Given the description of an element on the screen output the (x, y) to click on. 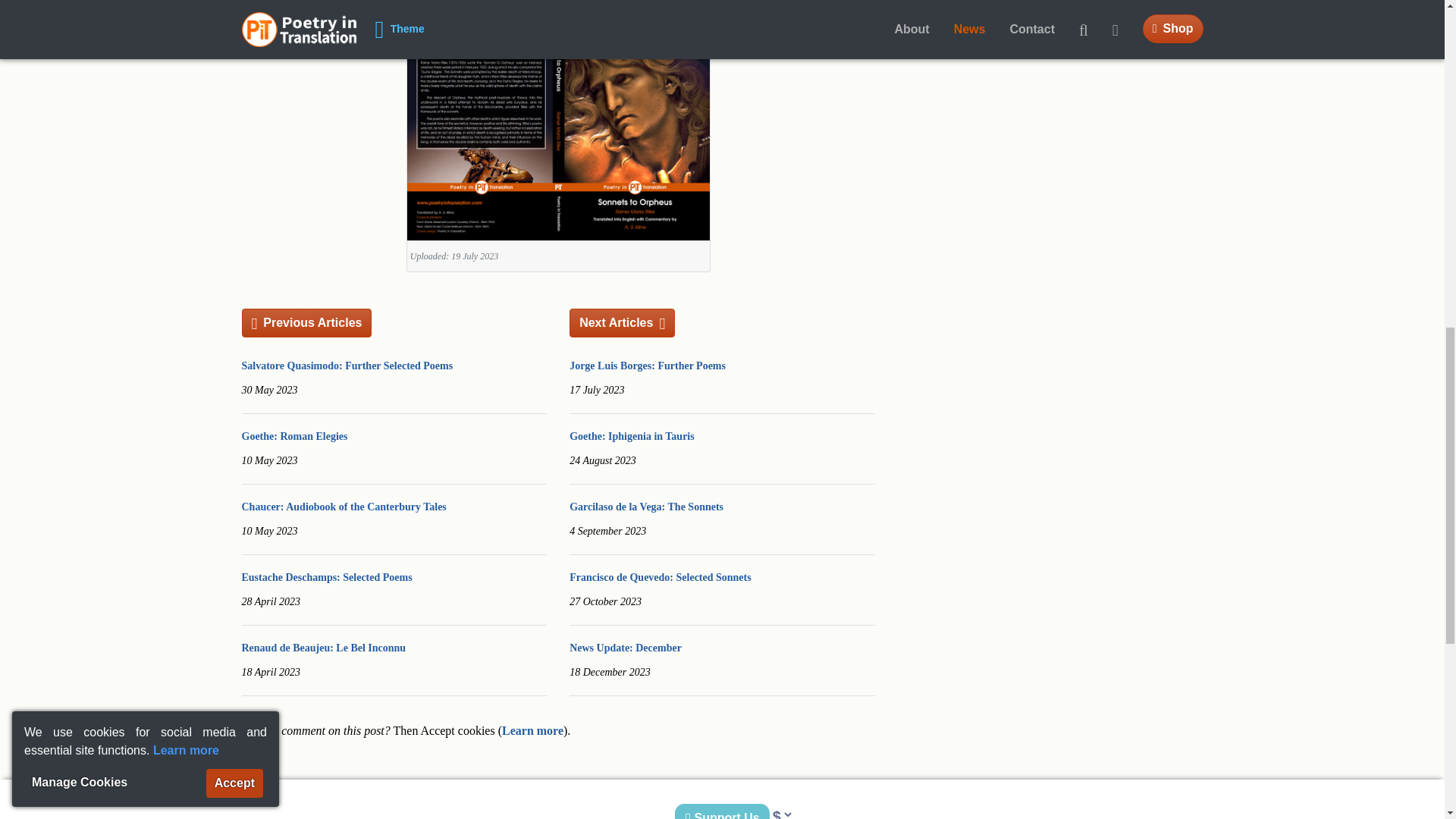
Goethe: Roman Elegies (294, 436)
Goethe: Roman Elegies (294, 436)
Chaucer: Audiobook of the Canterbury Tales (343, 506)
Learn more (532, 730)
Previous Articles (306, 322)
Next Articles (622, 322)
Previous Articles (306, 322)
Goethe: Iphigenia in Tauris (631, 436)
News Update: December (625, 647)
Francisco de Quevedo: Selected Sonnets (660, 577)
Garcilaso de la Vega: The Sonnets (646, 506)
Eustache Deschamps: Selected Poems (326, 577)
Salvatore Quasimodo: Further Selected Poems (346, 365)
Chaucer: Audiobook of the Canterbury Tales (343, 506)
Renaud de Beaujeu: Le Bel Inconnu (323, 647)
